Given the description of an element on the screen output the (x, y) to click on. 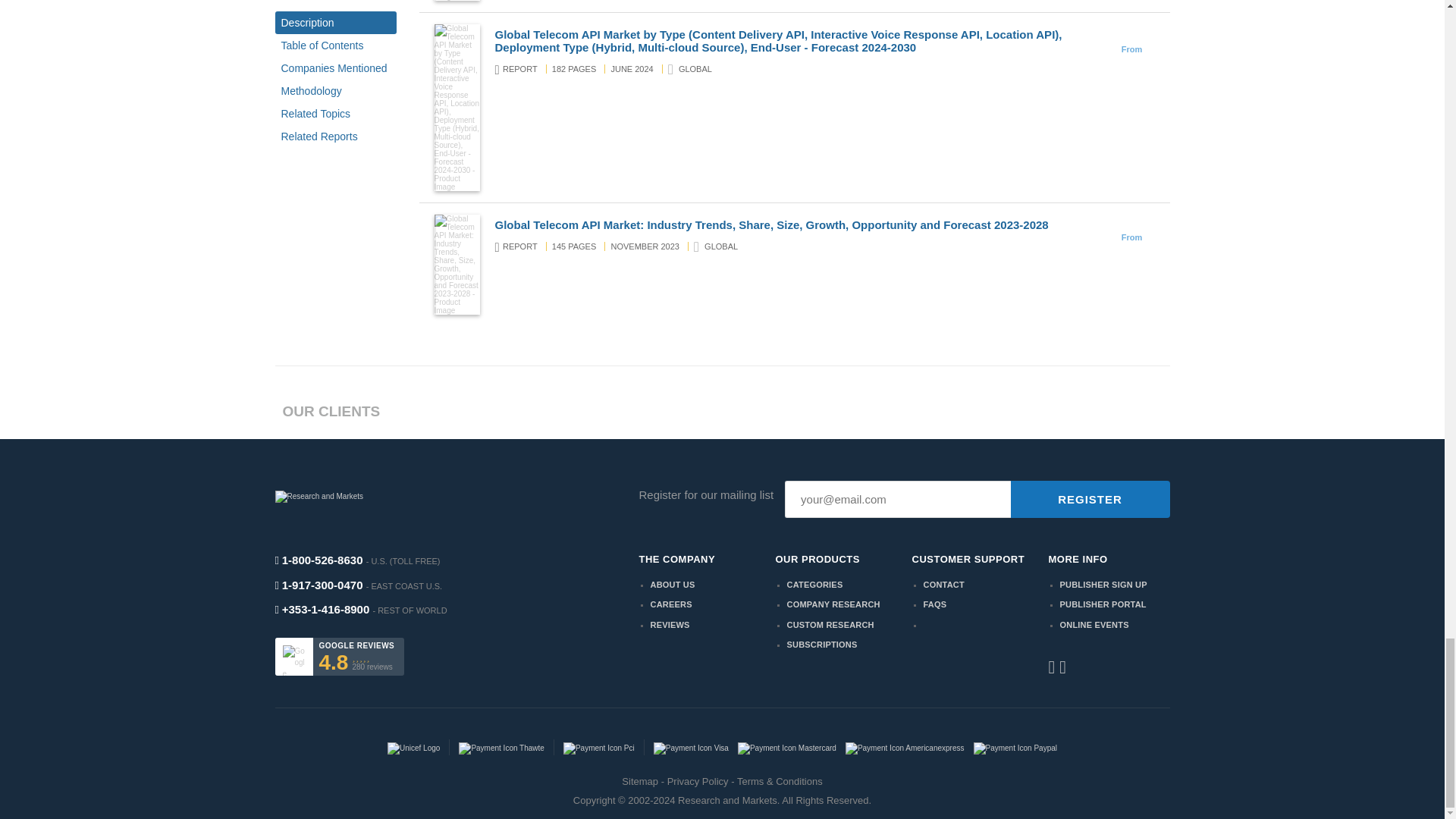
PCI Compliant (598, 747)
PayPal (1016, 747)
UNICEF Partner (413, 747)
American Express (904, 747)
Thawte (500, 747)
MasterCard (786, 747)
VISA (691, 747)
